Given the description of an element on the screen output the (x, y) to click on. 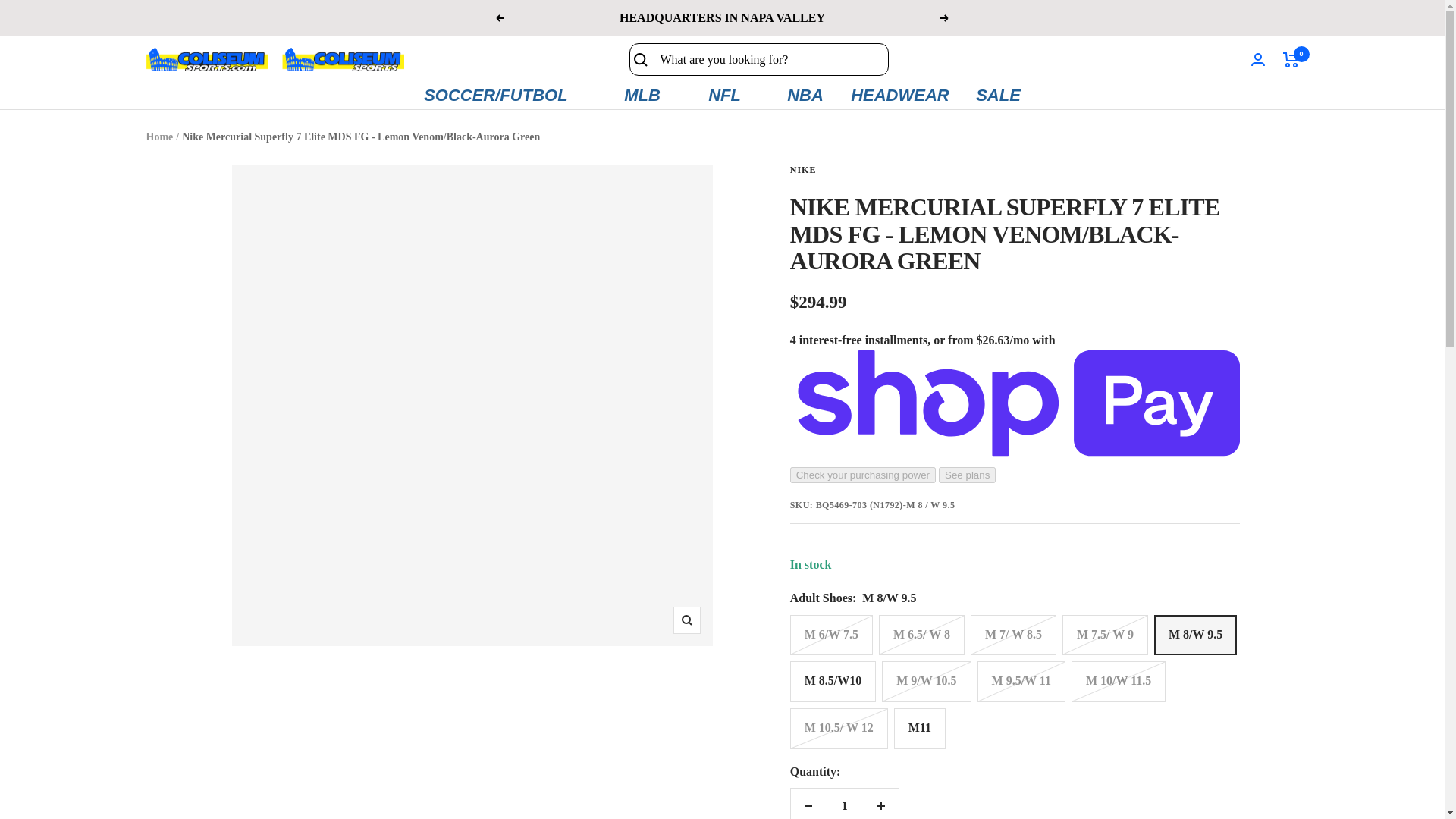
Coliseum Sports (274, 59)
0 (1290, 59)
1 (844, 803)
Next (944, 18)
Previous (499, 18)
